Given the description of an element on the screen output the (x, y) to click on. 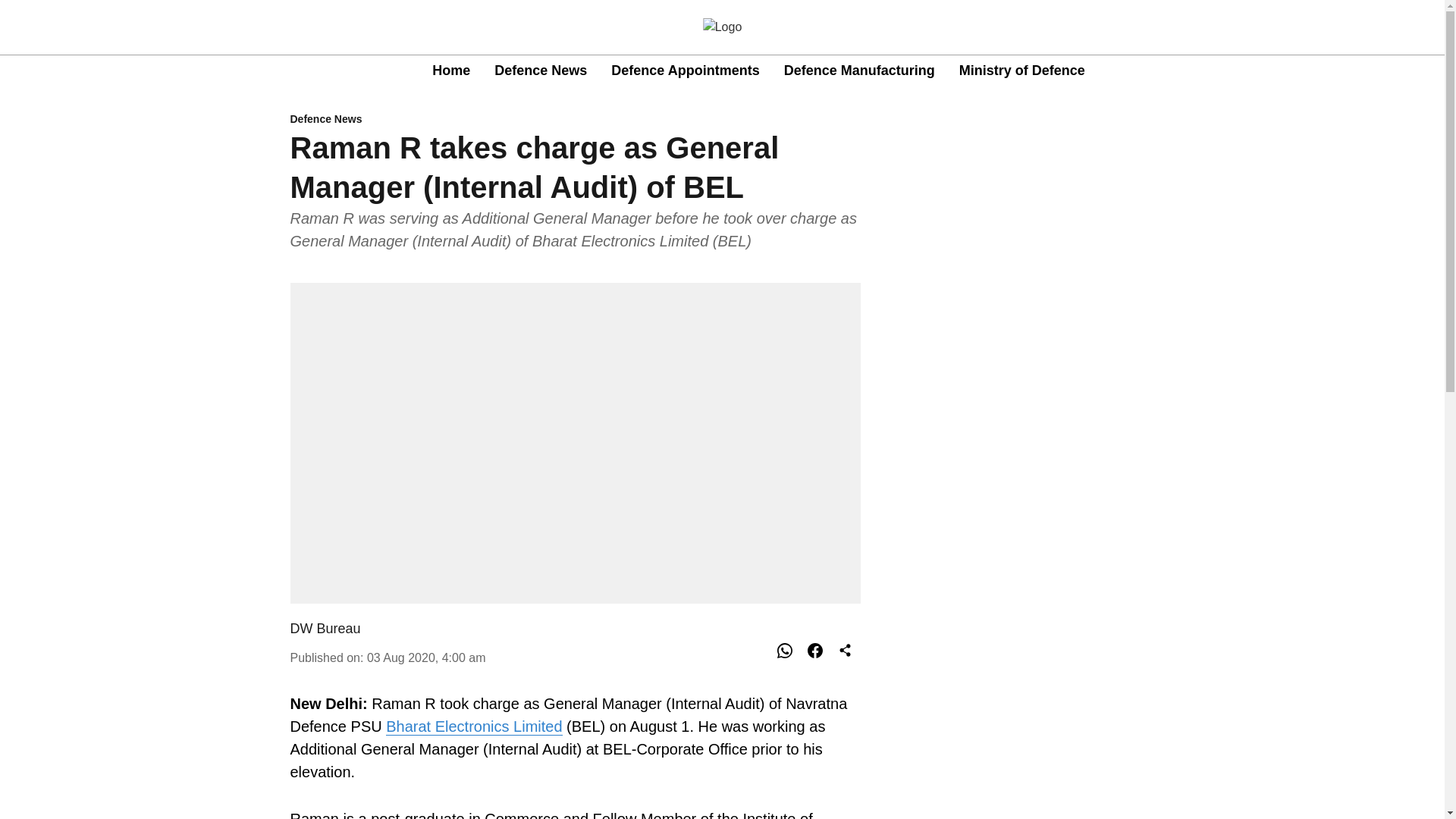
Defence Manufacturing (859, 70)
Defence Appointments (684, 70)
DW Bureau (324, 628)
Defence News (540, 70)
Home (451, 70)
Defence News (574, 119)
Bharat Electronics Limited (473, 726)
2020-08-03 04:00 (426, 656)
Ministry of Defence (1021, 70)
